Given the description of an element on the screen output the (x, y) to click on. 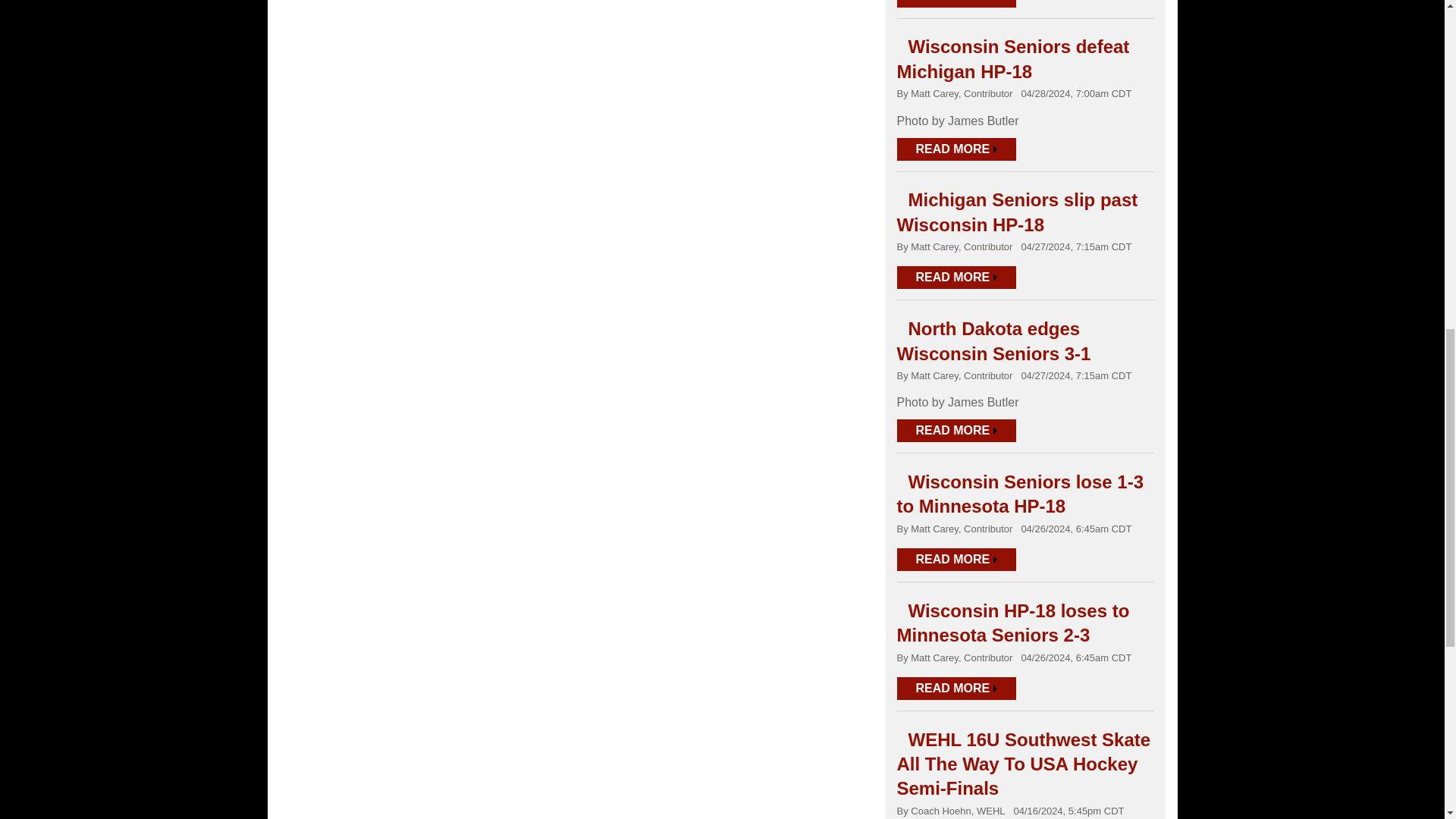
READ MORE (956, 3)
